Given the description of an element on the screen output the (x, y) to click on. 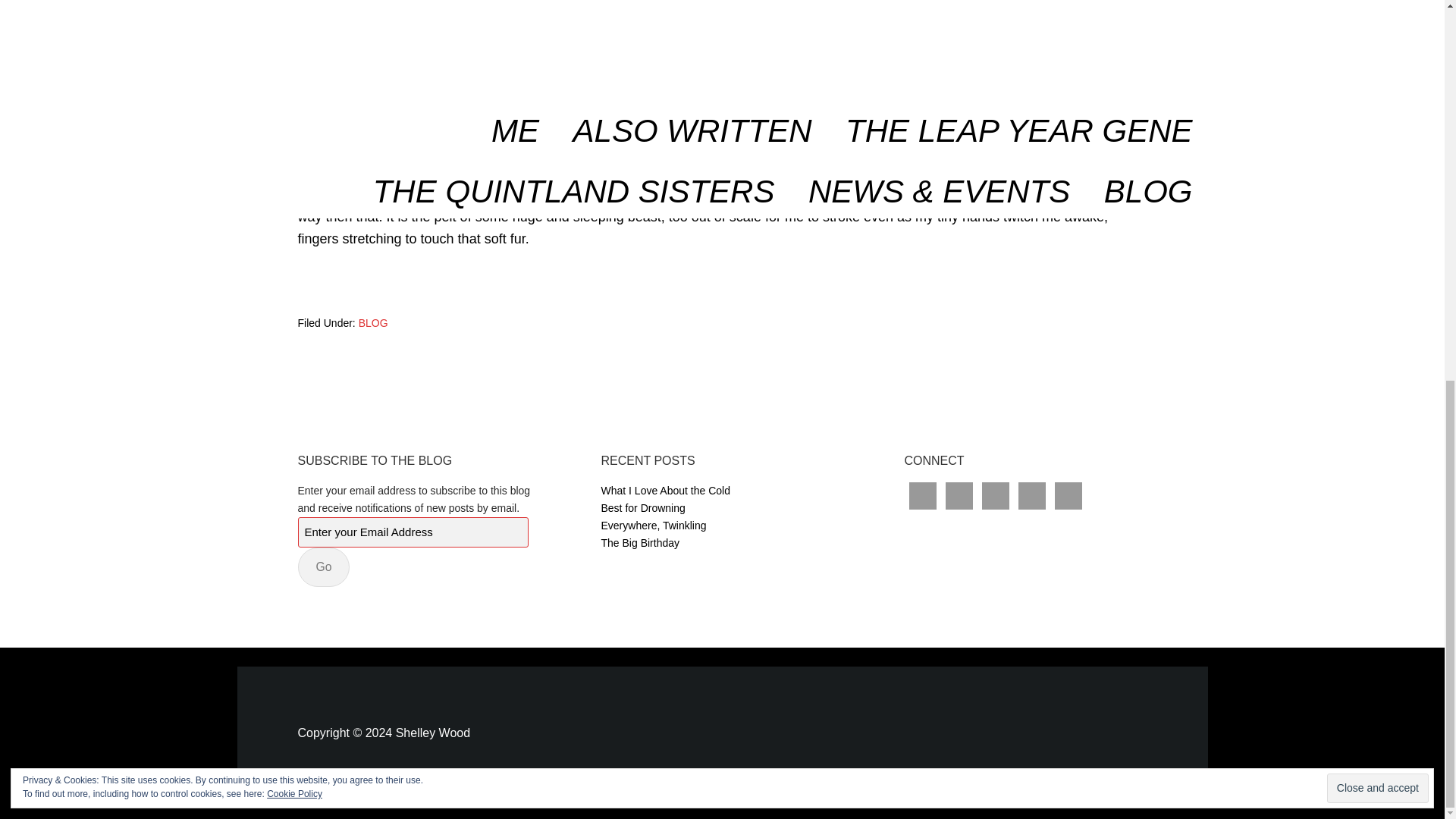
Cookie Policy (293, 85)
The Big Birthday (639, 542)
Close and accept (1377, 80)
Everywhere, Twinkling (652, 525)
BLOG (373, 322)
Best for Drowning (641, 508)
Close and accept (1377, 80)
What I Love About the Cold (664, 490)
Go (323, 567)
